Given the description of an element on the screen output the (x, y) to click on. 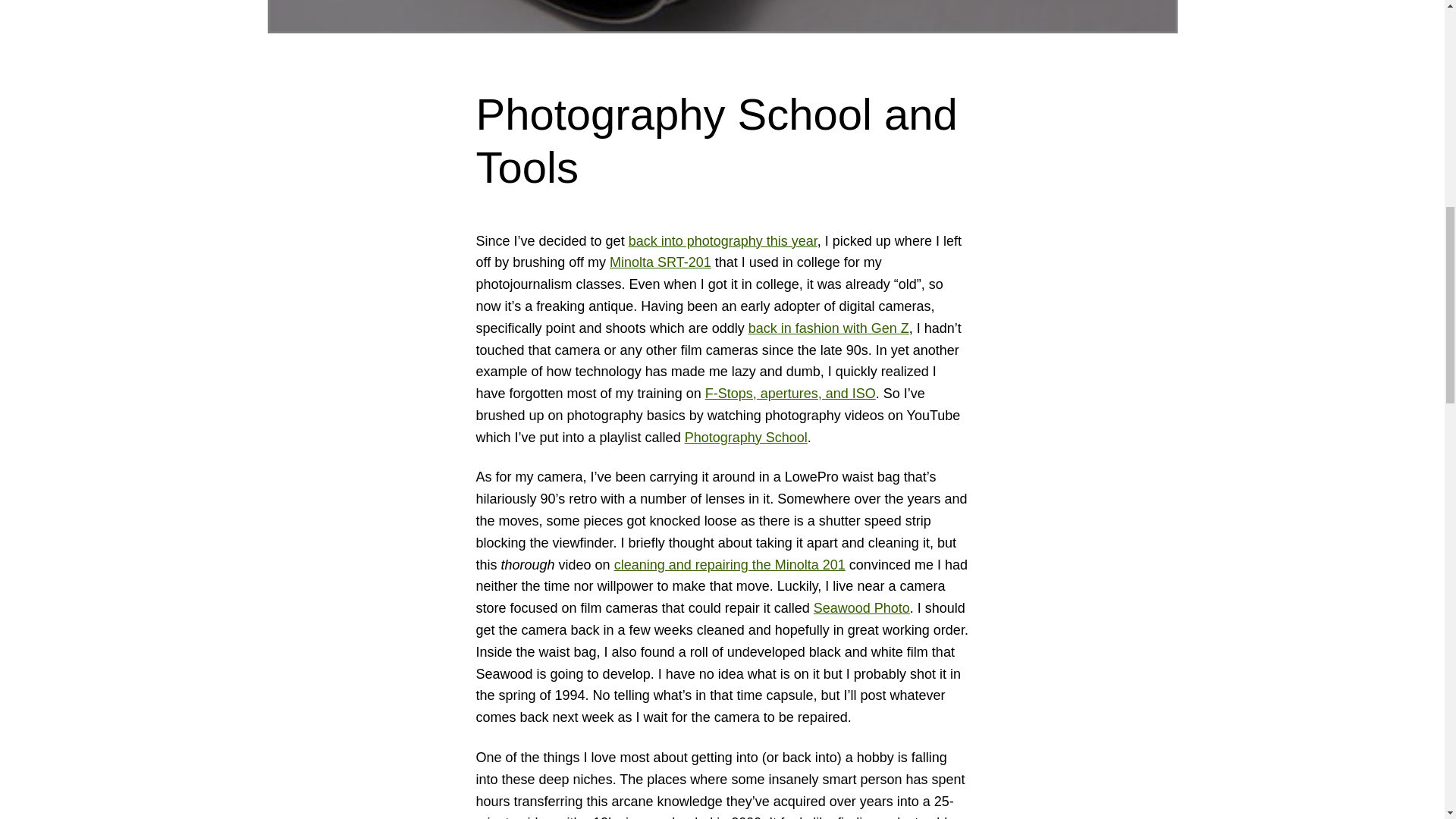
cleaning and repairing the Minolta 201 (729, 564)
back in fashion with Gen Z (828, 328)
Photography School (746, 437)
Minolta SRT-201 (660, 262)
back into photography this year (722, 240)
F-Stops, apertures, and ISO (790, 393)
Seawood Photo (861, 607)
